Given the description of an element on the screen output the (x, y) to click on. 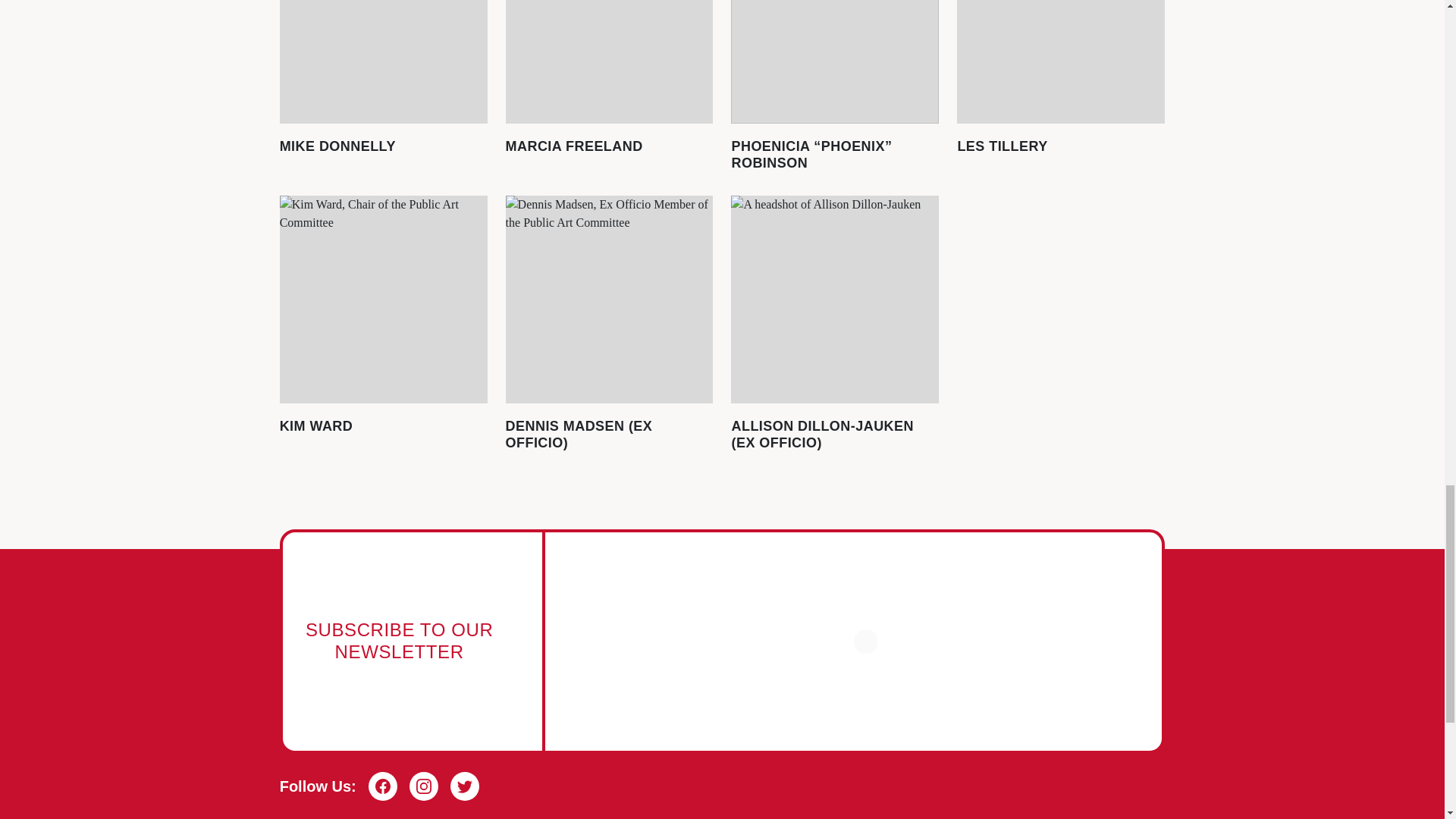
Facebook (382, 786)
Twitter (464, 786)
Instagram (423, 786)
